Given the description of an element on the screen output the (x, y) to click on. 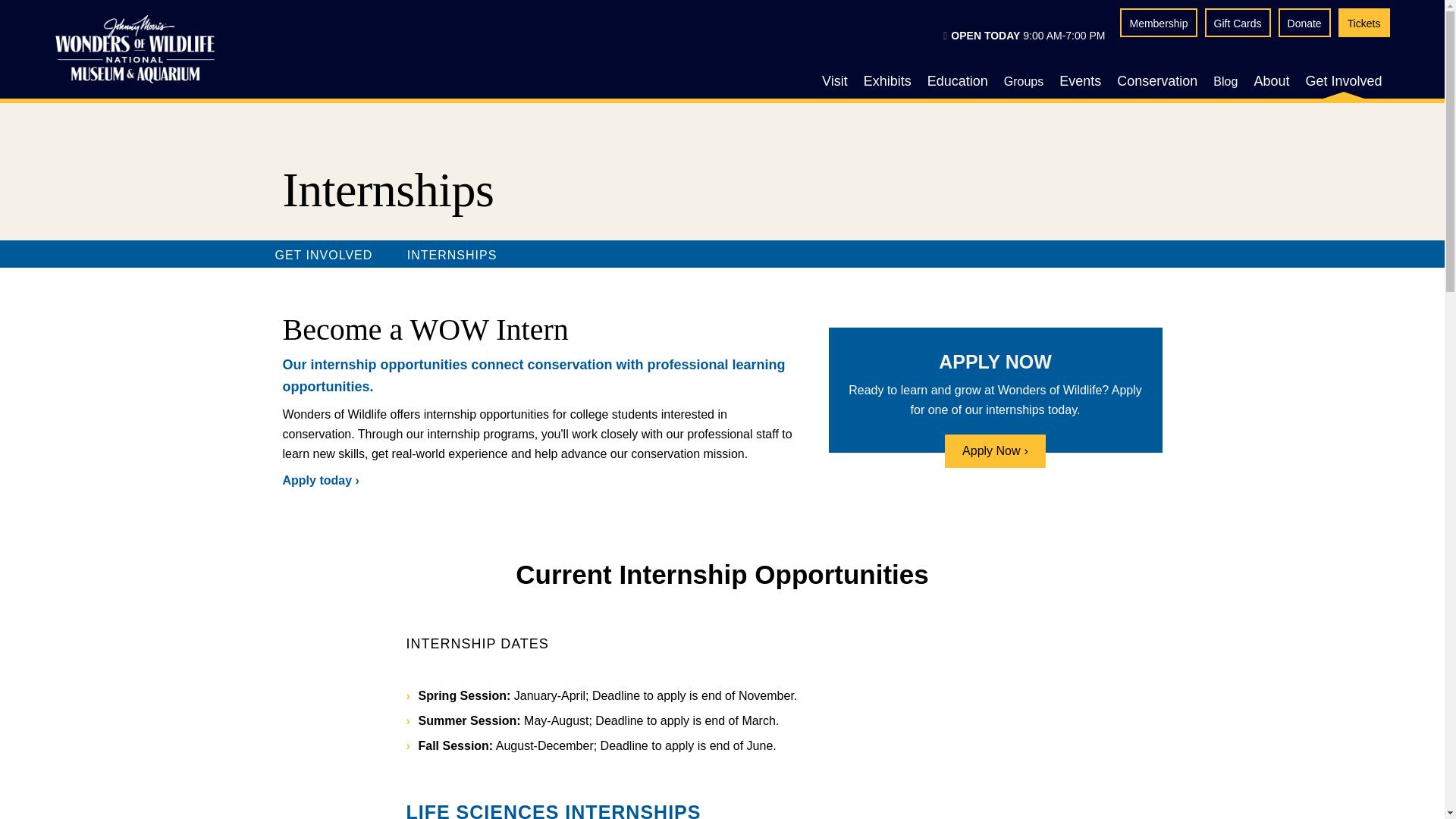
Donate (1304, 22)
Gift Cards (1236, 22)
Visit (834, 80)
Tickets (1364, 22)
Membership (1158, 22)
Exhibits (887, 80)
OPEN TODAY 9:00 AM-7:00 PM (1024, 35)
Education (957, 80)
